Given the description of an element on the screen output the (x, y) to click on. 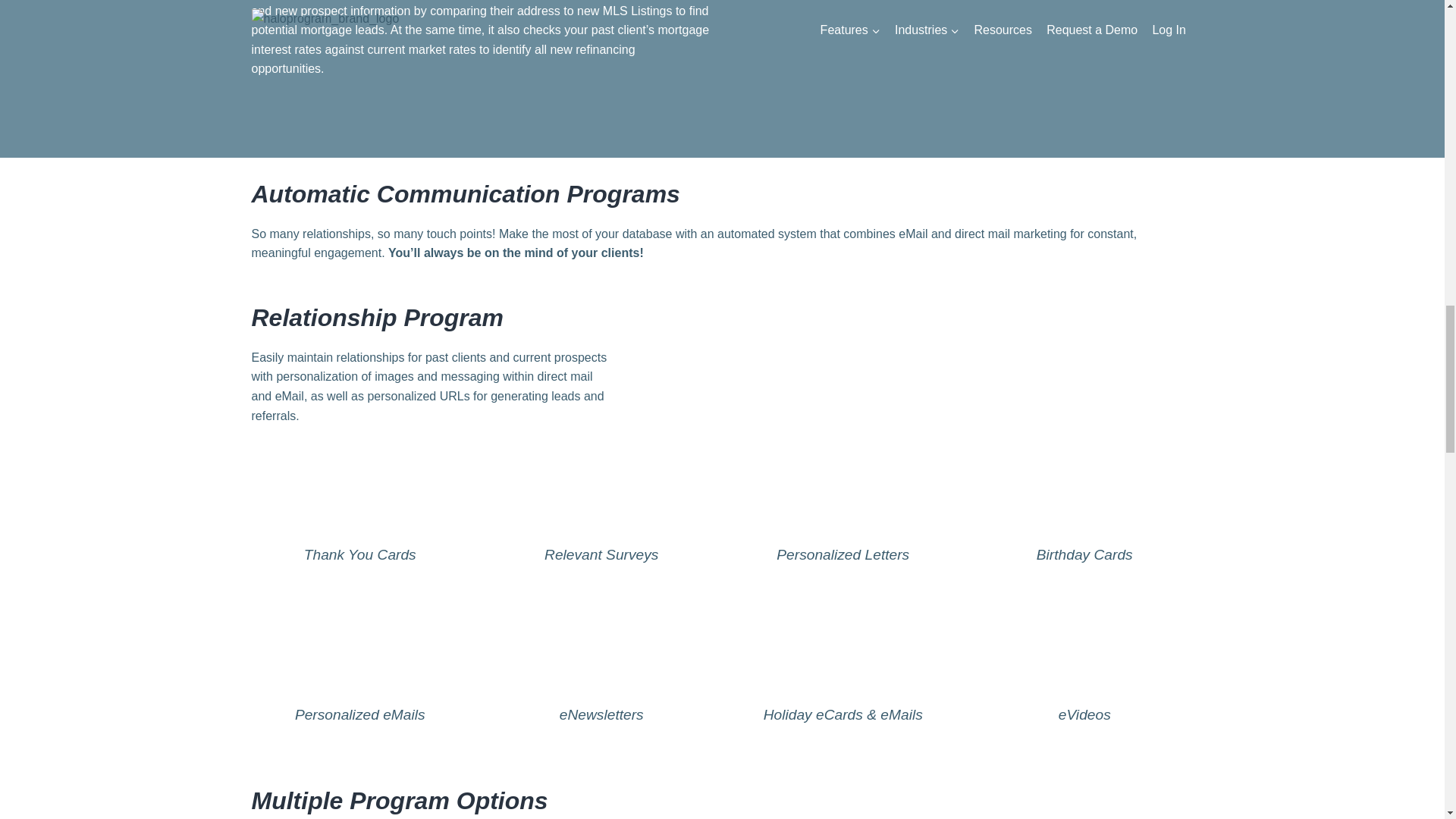
eVideos (1084, 684)
Relevant Surveys (601, 523)
Personalized Letters (842, 523)
Thank You Cards (359, 523)
Personalized eMails (359, 684)
Birthday Cards (1084, 523)
eNewsletters (601, 684)
